Given the description of an element on the screen output the (x, y) to click on. 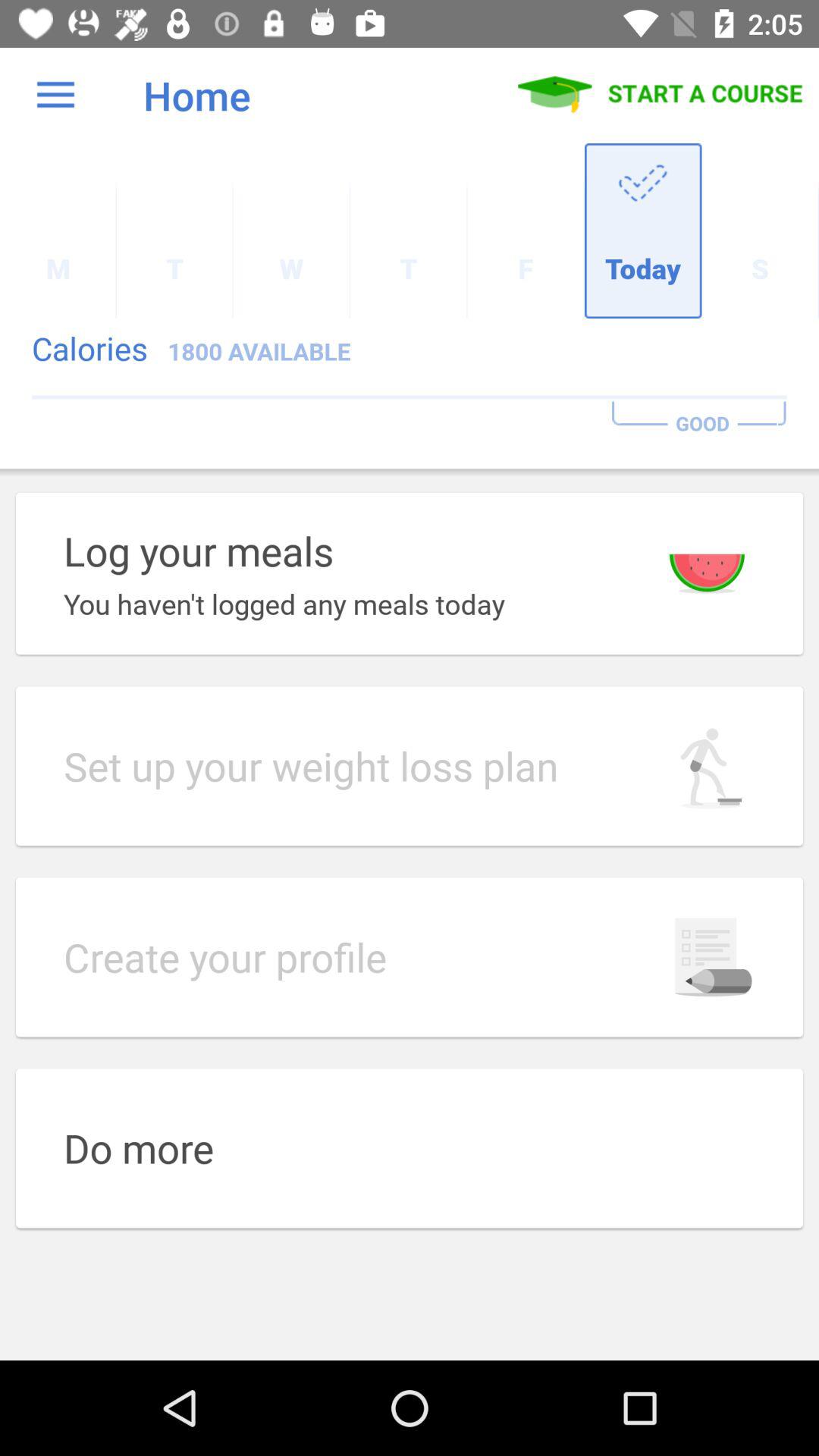
start a course (660, 95)
